Given the description of an element on the screen output the (x, y) to click on. 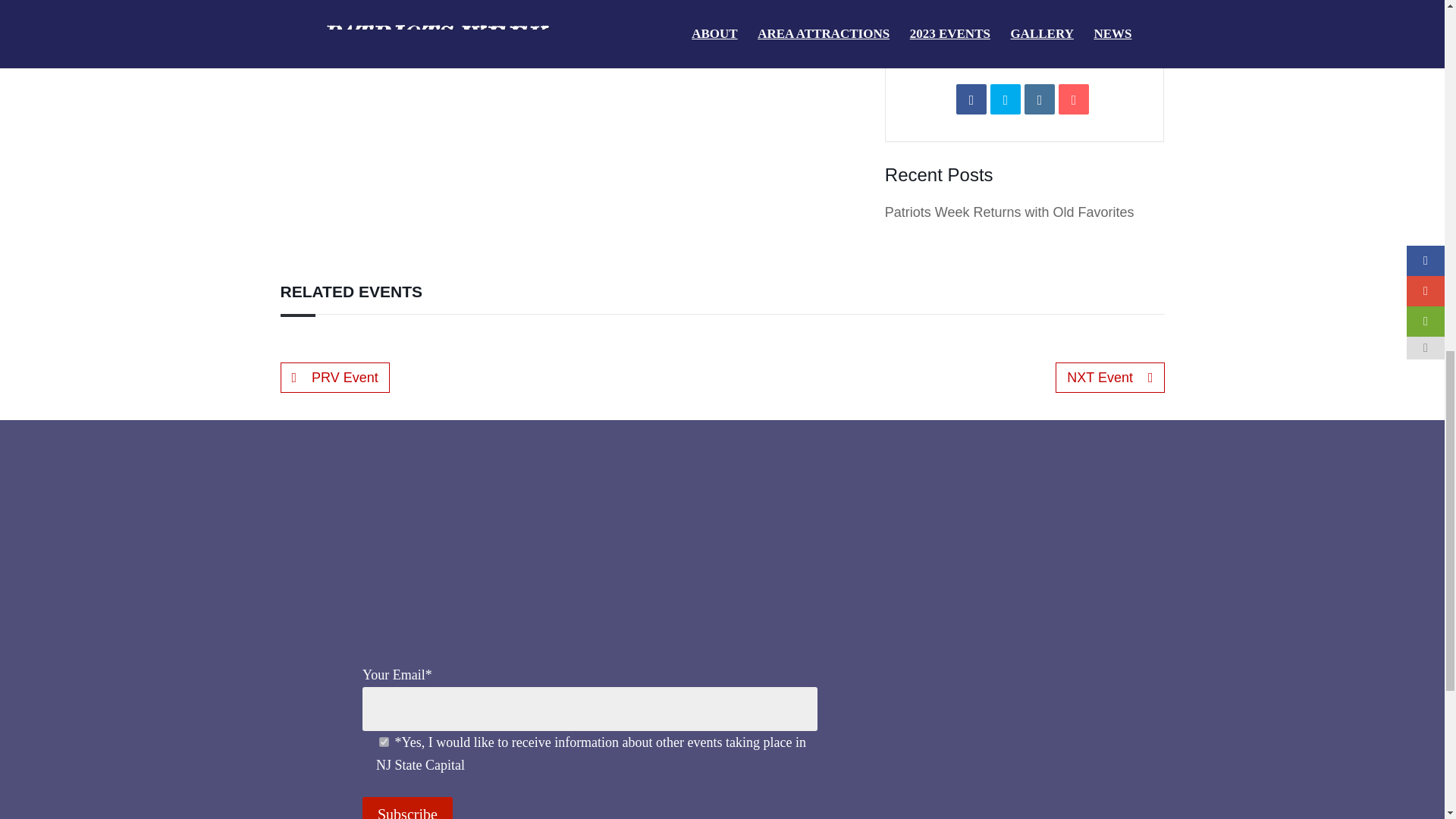
Tweet (1005, 99)
PRV Event (335, 377)
Subscribe (407, 807)
Share on Facebook (971, 99)
Email (1073, 99)
Patriots Week Returns with Old Favorites (1009, 212)
Linkedin (1039, 99)
NXT Event (1109, 377)
Subscribe (407, 807)
1 (383, 741)
